Given the description of an element on the screen output the (x, y) to click on. 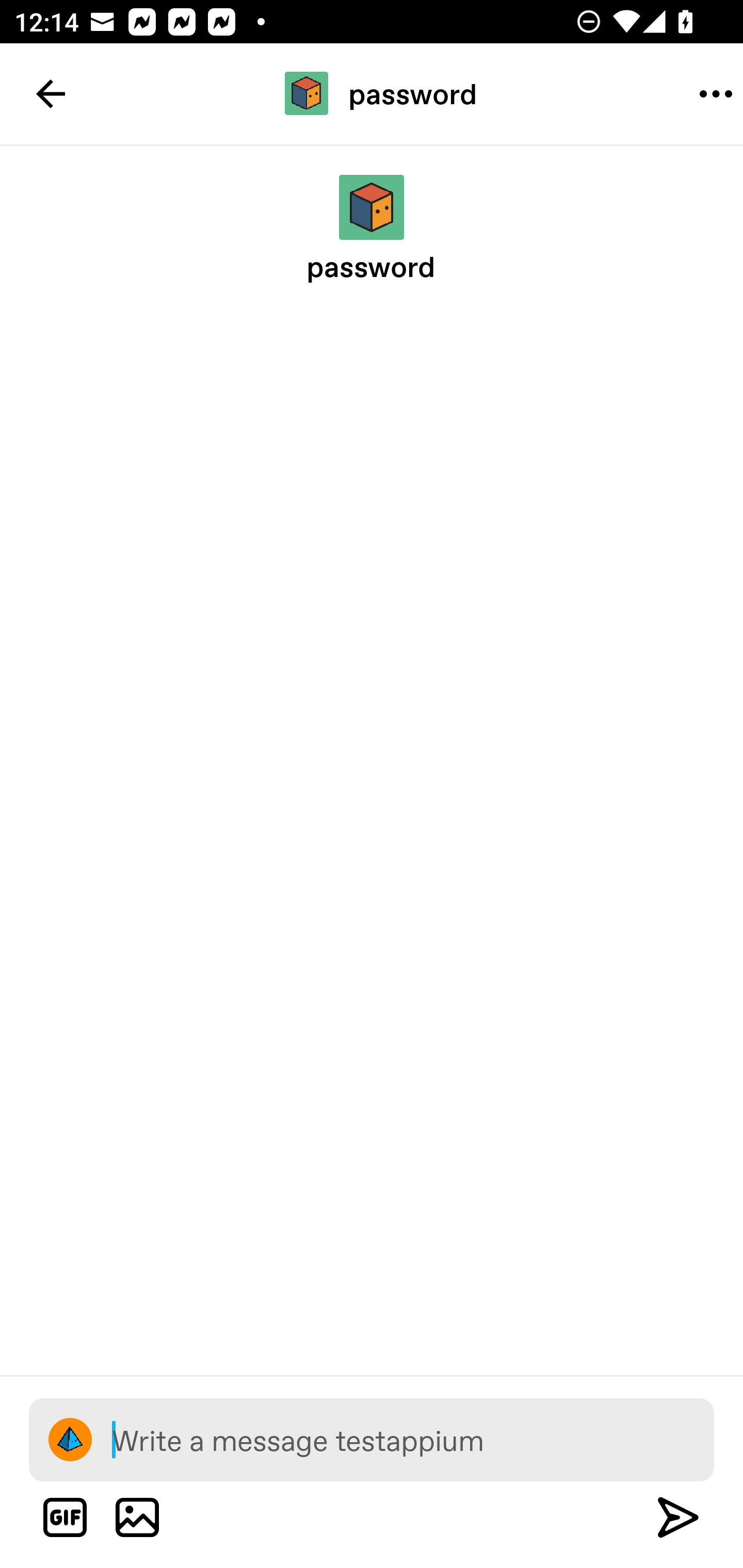
Navigate up (50, 93)
password (371, 92)
Write a message testappium (413, 1439)
